Given the description of an element on the screen output the (x, y) to click on. 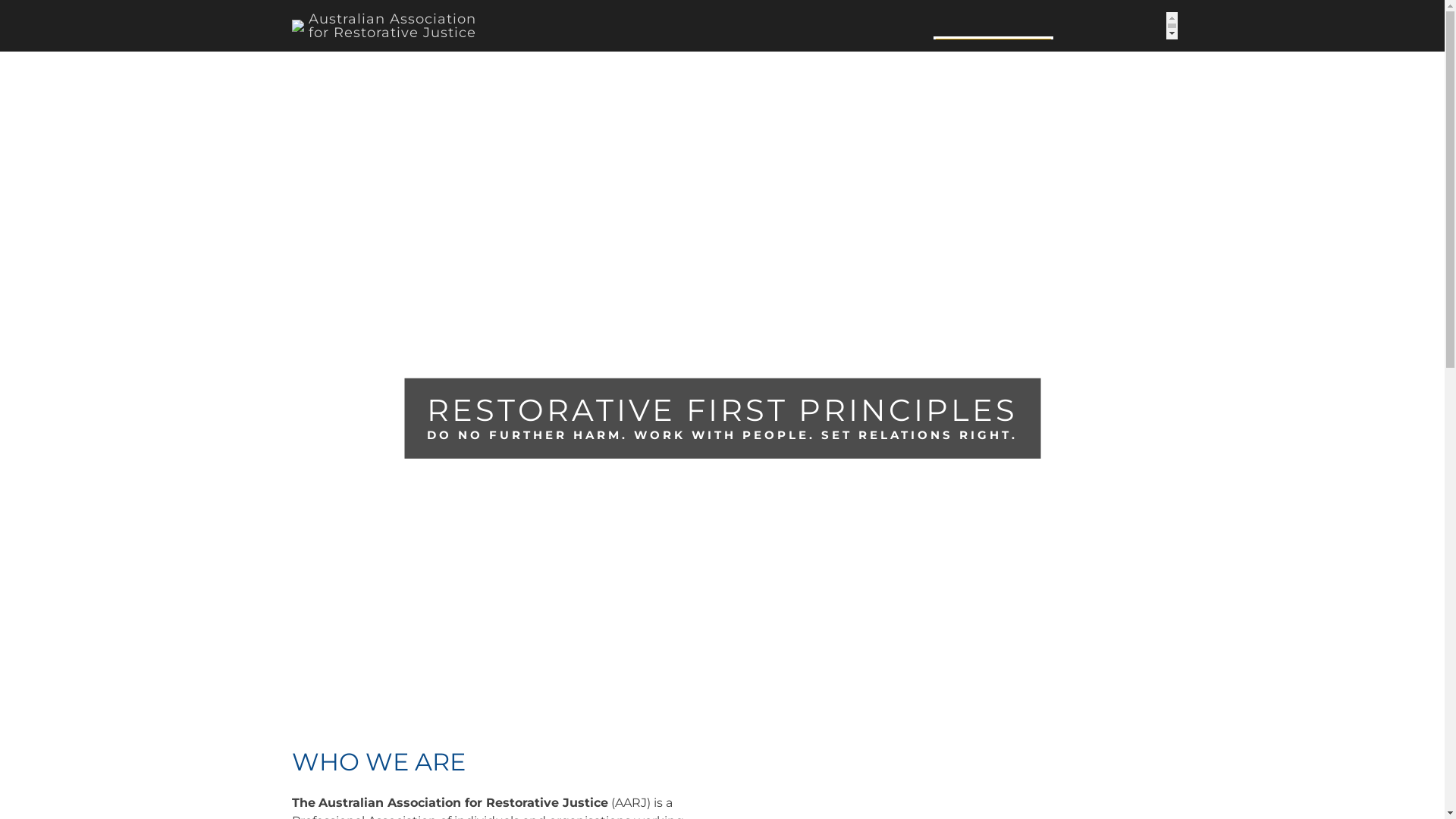
MEMBER LOGIN Element type: text (992, 49)
Australian Association
for Restorative Justice Element type: text (383, 24)
